Given the description of an element on the screen output the (x, y) to click on. 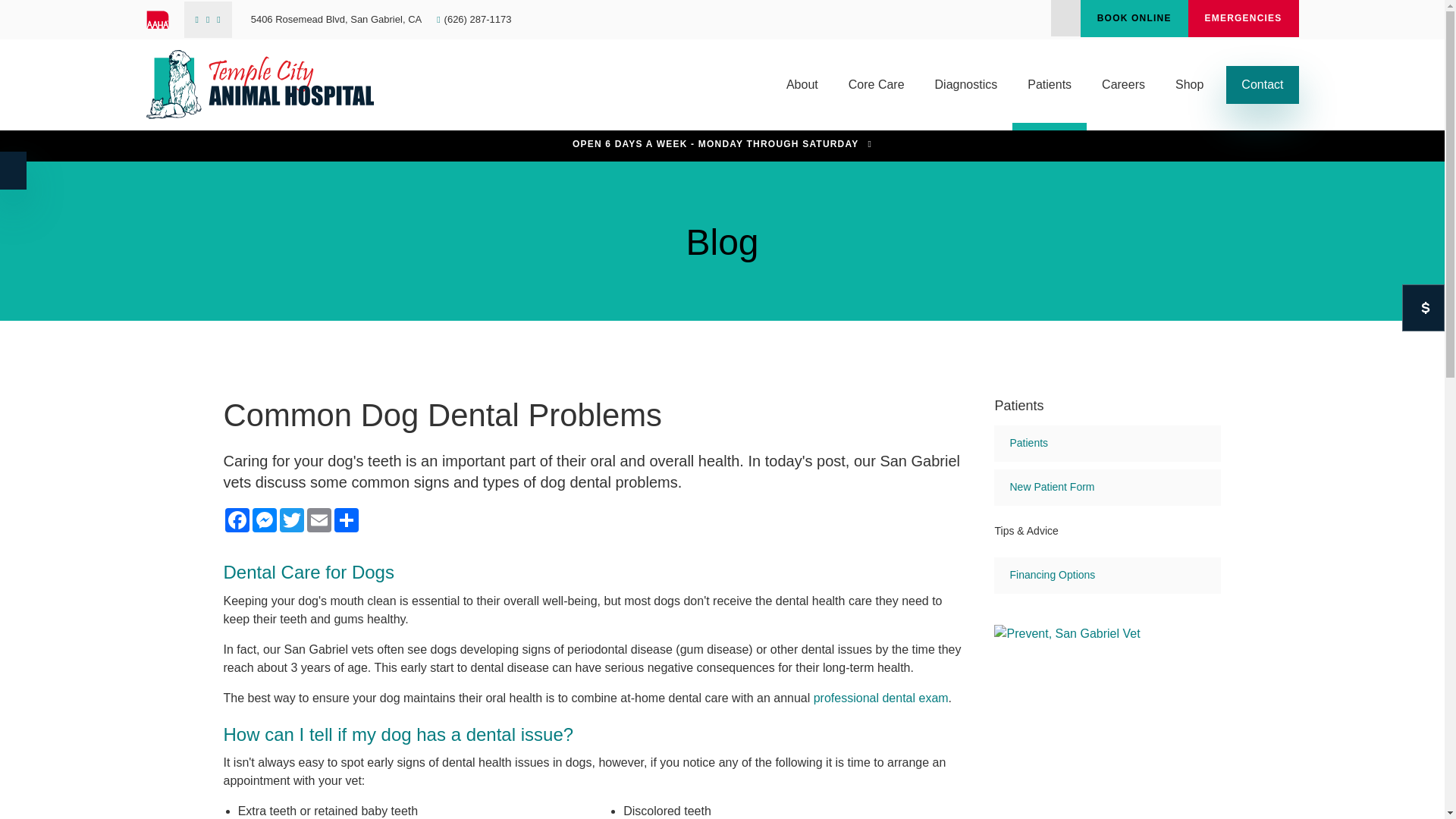
BOOK ONLINE (1134, 18)
5406 Rosemead Blvd San Gabriel CA (336, 19)
EMERGENCIES (1243, 18)
